Given the description of an element on the screen output the (x, y) to click on. 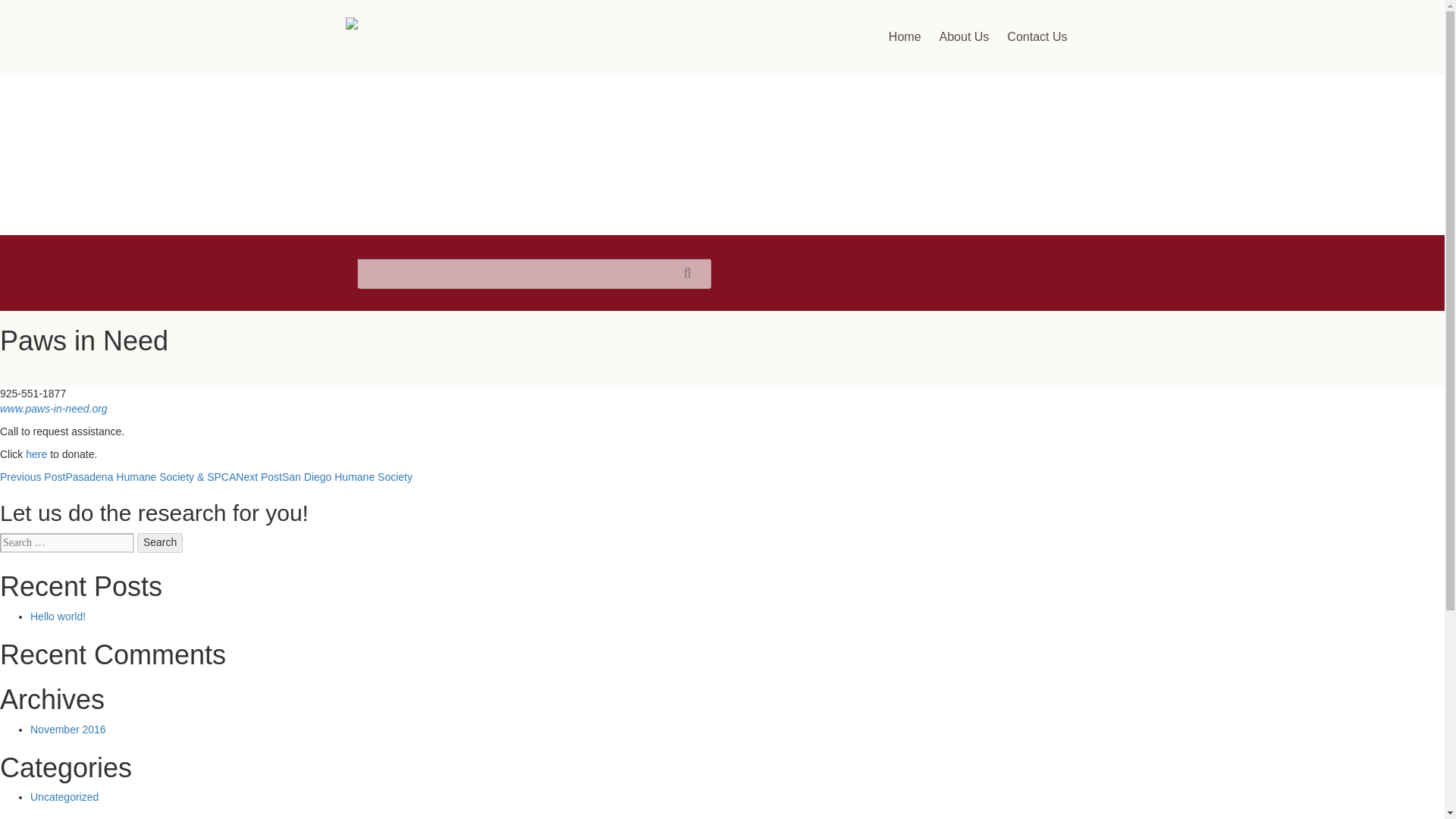
Home (904, 37)
Uncategorized (64, 797)
Hello world! (57, 616)
Search (159, 542)
www.paws-in-need.org (53, 408)
Search (159, 542)
Next PostSan Diego Humane Society (323, 476)
Contact Us (1036, 37)
Search (159, 542)
here (37, 453)
November 2016 (68, 729)
About Us (964, 37)
